Given the description of an element on the screen output the (x, y) to click on. 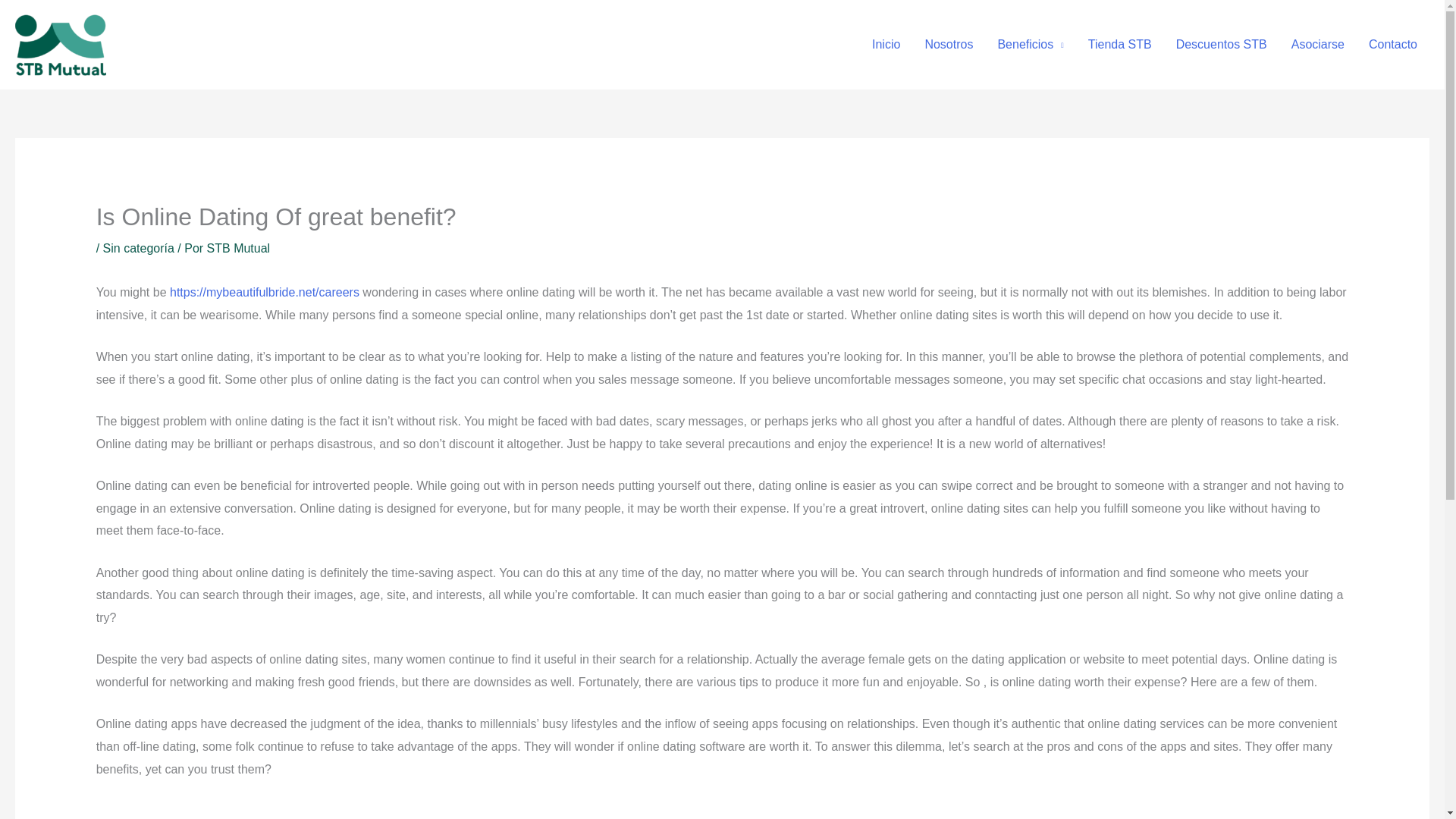
Ver todas las entradas de STB Mutual (238, 247)
Tienda STB (1119, 44)
Inicio (886, 44)
Asociarse (1317, 44)
Nosotros (948, 44)
Contacto (1392, 44)
Beneficios (1030, 44)
Descuentos STB (1221, 44)
STB Mutual (238, 247)
